Given the description of an element on the screen output the (x, y) to click on. 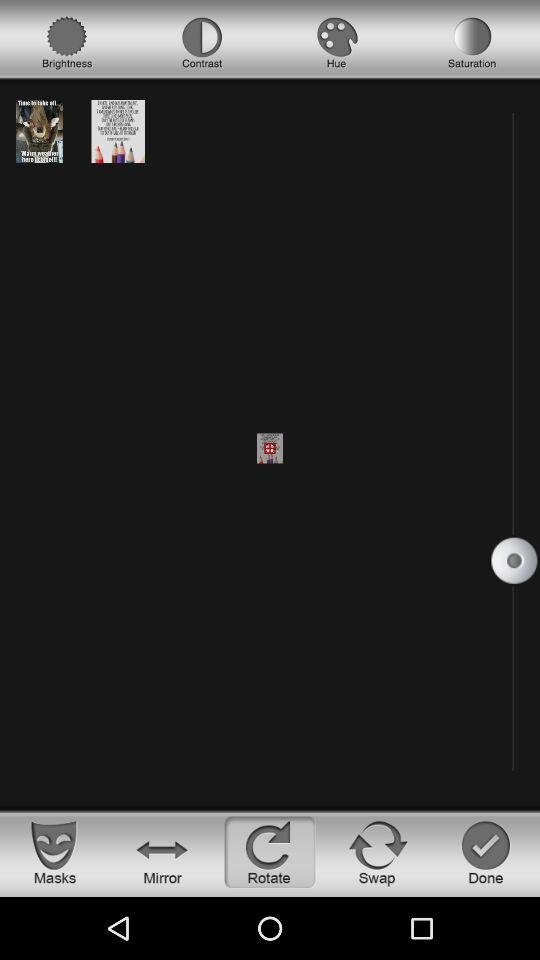
swap the image (377, 852)
